Given the description of an element on the screen output the (x, y) to click on. 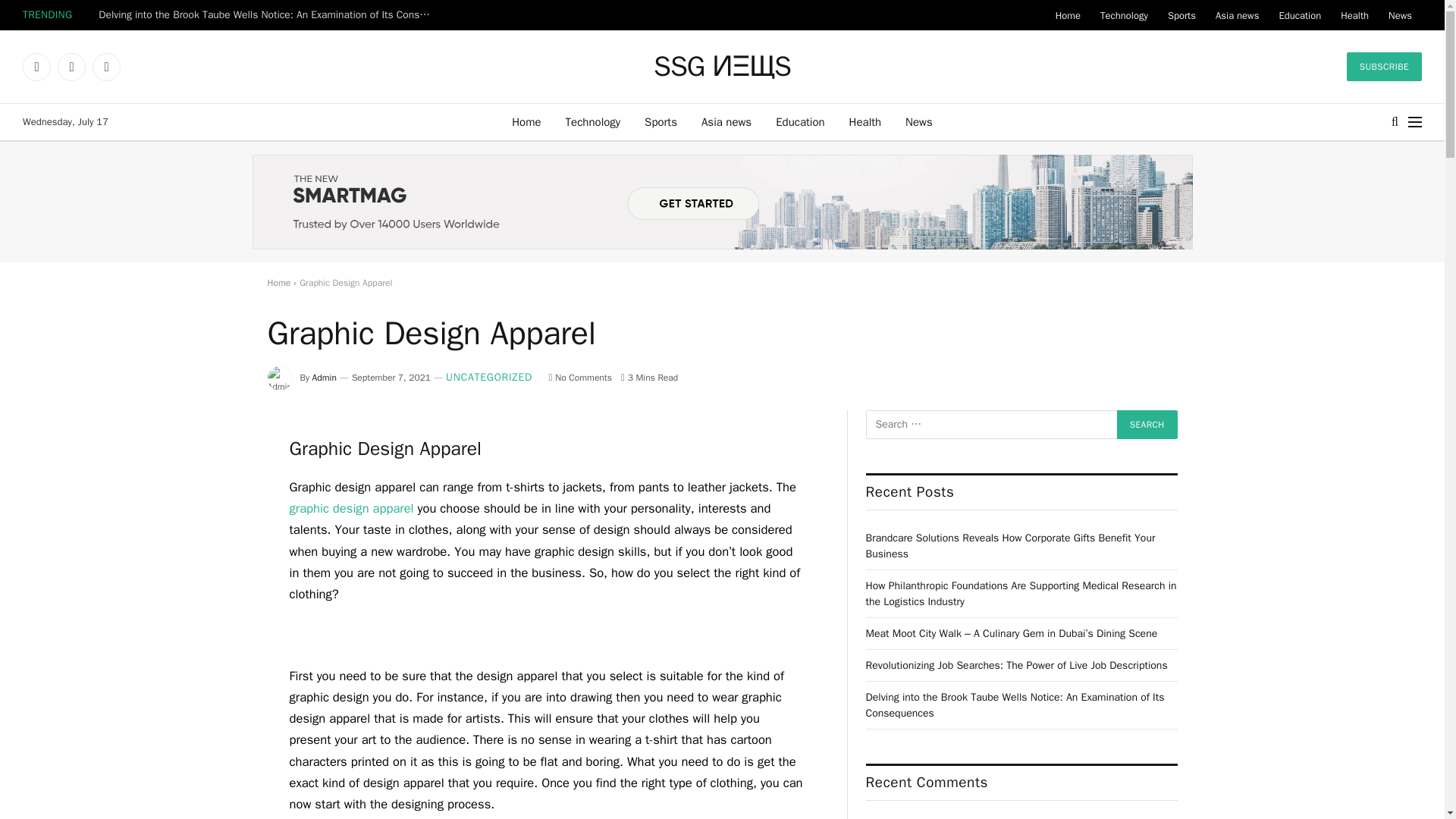
Education (1299, 15)
Asia news (1236, 15)
Technology (593, 122)
Health (1354, 15)
News (918, 122)
Posts by Admin (324, 377)
Facebook (36, 67)
Education (798, 122)
Asia news (725, 122)
Sports (659, 122)
Technology (1123, 15)
News (1400, 15)
Search (1146, 424)
Search (1146, 424)
